Given the description of an element on the screen output the (x, y) to click on. 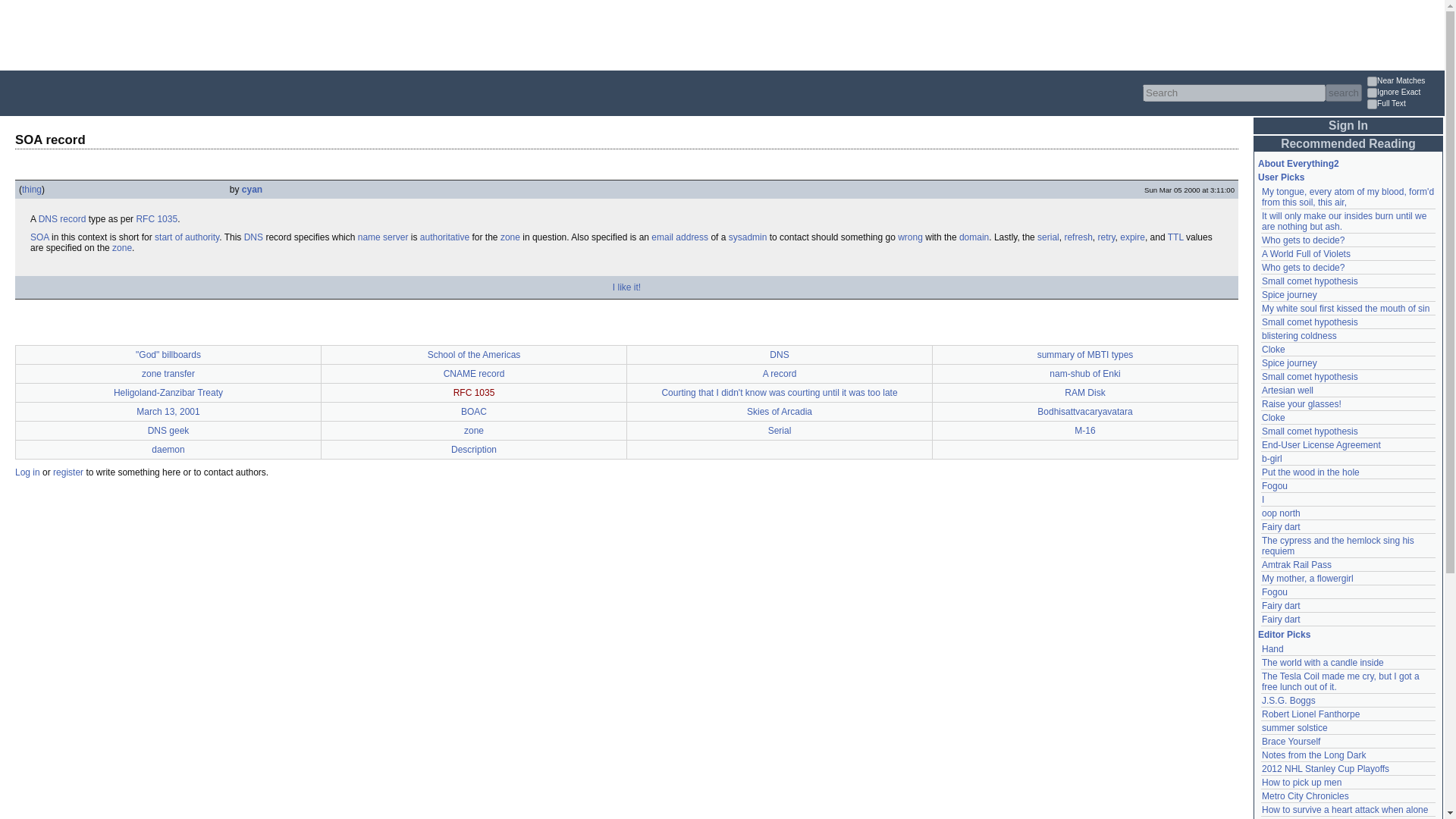
start of authority (186, 236)
authoritative (444, 236)
1 (1372, 92)
name server (383, 236)
search (1342, 92)
wrong (910, 236)
Advertisement (275, 33)
Heligoland-Zanzibar Treaty (167, 392)
CNAME record (474, 373)
thing (31, 189)
